Given the description of an element on the screen output the (x, y) to click on. 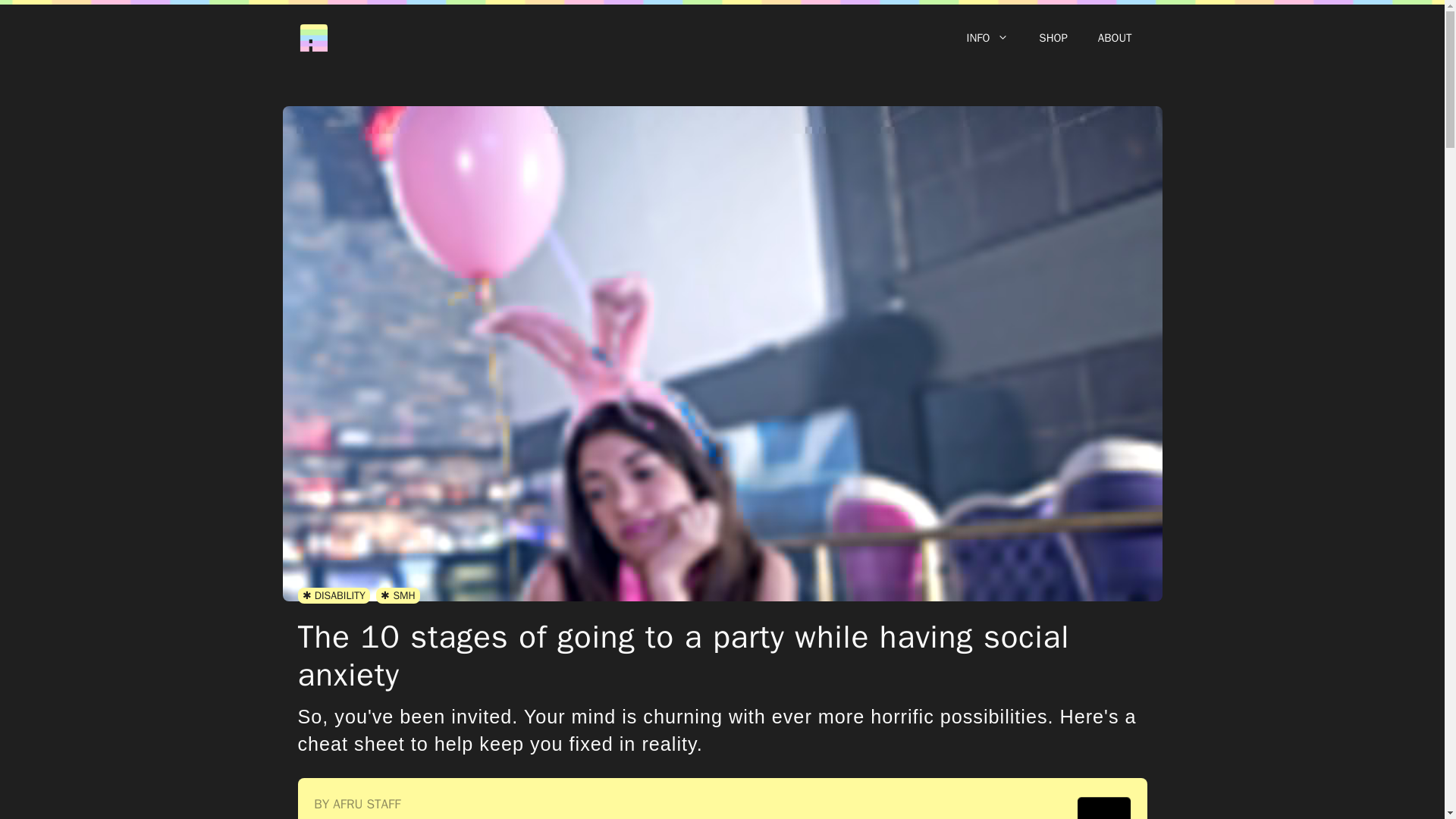
INFO (986, 37)
AFRU STAFF (366, 804)
SMH (397, 594)
View all posts by AFRU Staff (366, 804)
DISABILITY (333, 594)
ABOUT (1115, 37)
SHOP (1052, 37)
